Given the description of an element on the screen output the (x, y) to click on. 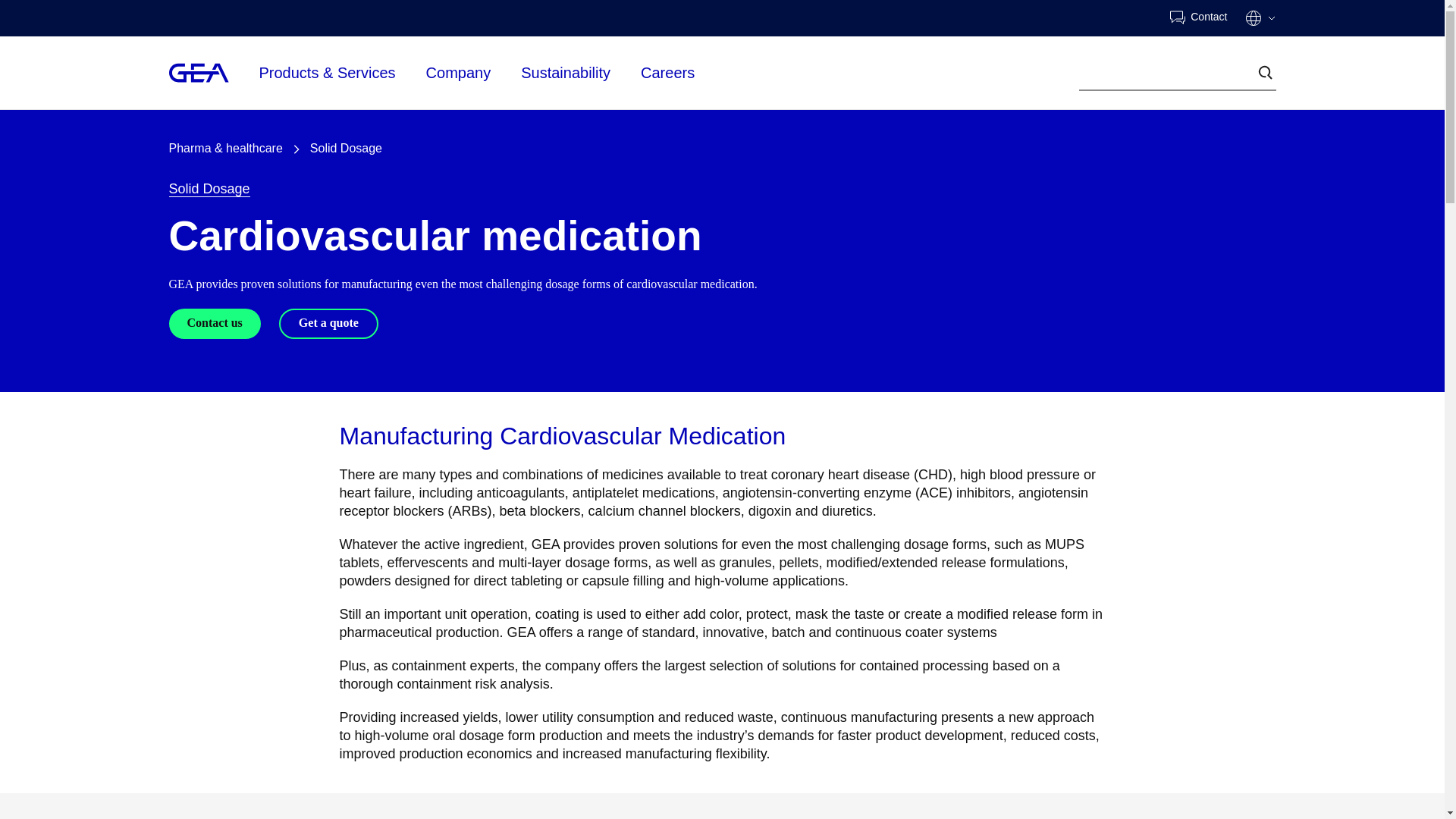
Company (459, 71)
Sustainability (565, 72)
Contact GEA (1198, 17)
Careers (667, 71)
Contact (1198, 17)
Careers (667, 72)
Company (459, 72)
Sustainability (565, 71)
